Given the description of an element on the screen output the (x, y) to click on. 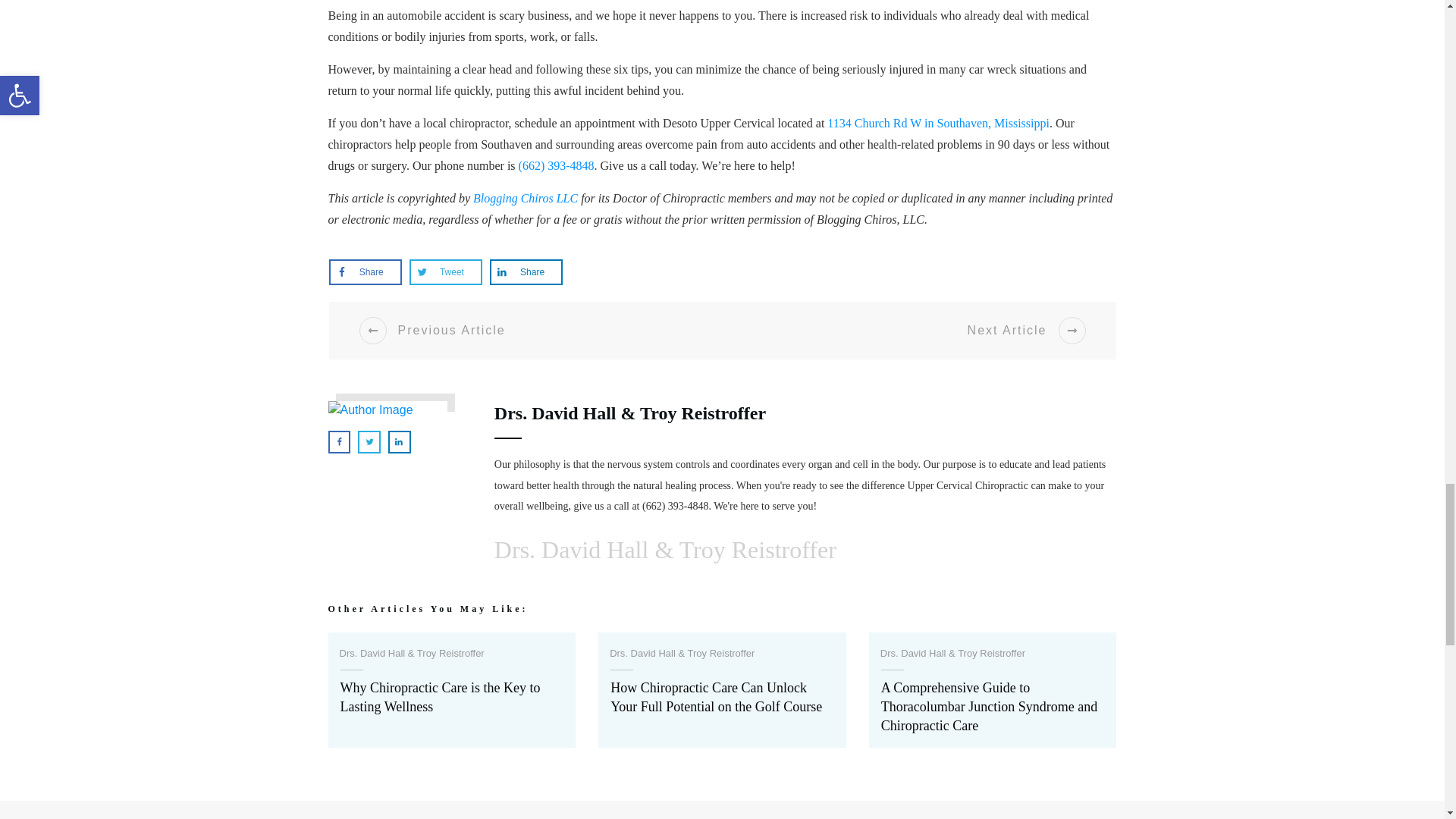
1134 Church Rd W in Southaven, Mississippi (938, 123)
